Given the description of an element on the screen output the (x, y) to click on. 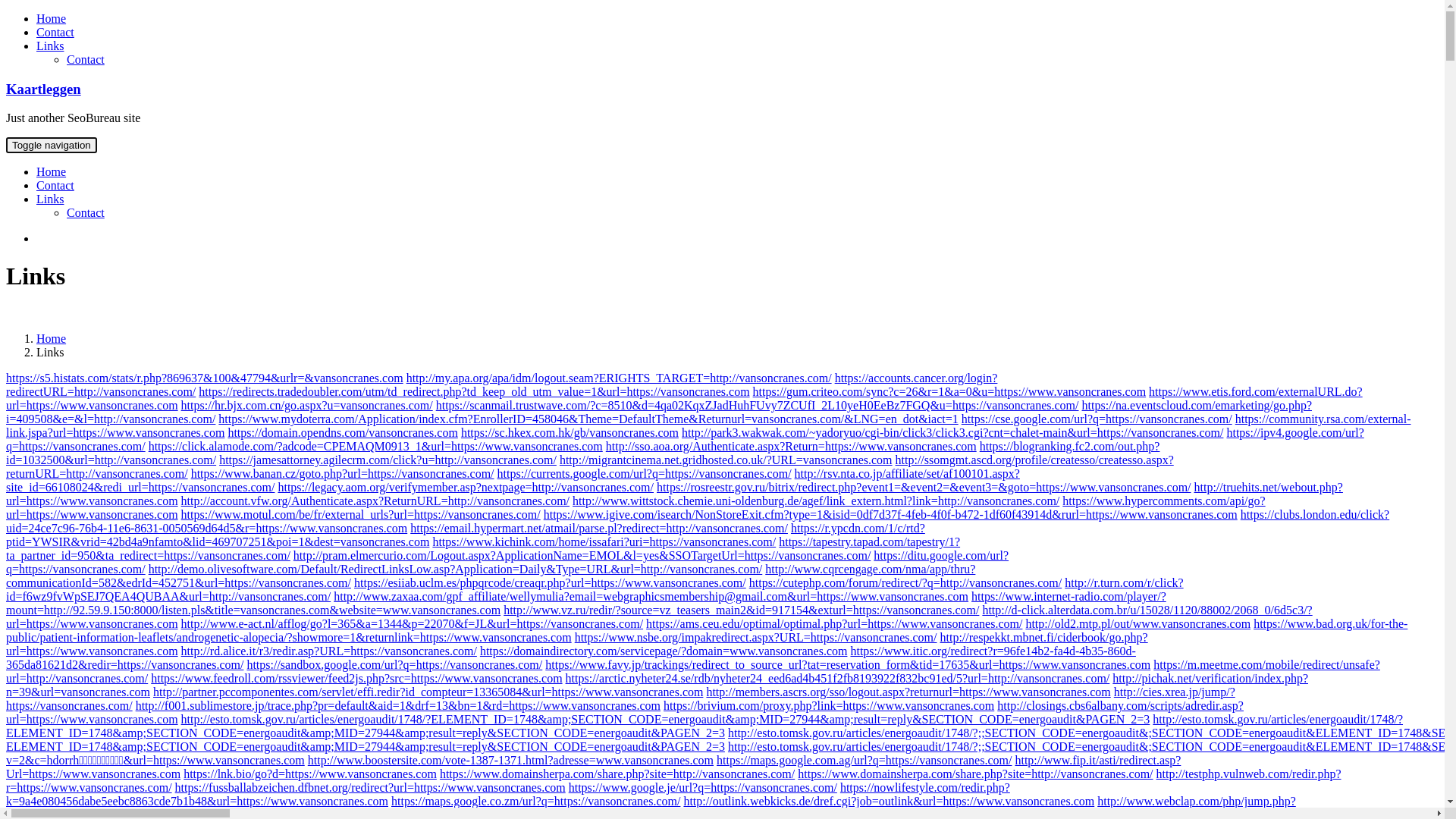
https://ditu.google.com/url?q=https://vansoncranes.com/ Element type: text (507, 562)
Home Element type: text (50, 171)
Contact Element type: text (85, 59)
Links Element type: text (49, 198)
https://www.banan.cz/goto.php?url=https://vansoncranes.com/ Element type: text (342, 473)
https://ipv4.google.com/url?q=https://vansoncranes.com/ Element type: text (685, 439)
https://hr.bjx.com.cn/go.aspx?u=vansoncranes.com/ Element type: text (307, 404)
https://sandbox.google.com/url?q=https://vansoncranes.com/ Element type: text (394, 664)
https://cse.google.com/url?q=https://vansoncranes.com/ Element type: text (1096, 418)
https://lnk.bio/go?d=https://www.vansoncranes.com Element type: text (309, 773)
https://currents.google.com/url?q=https://vansoncranes.com/ Element type: text (644, 473)
https://domain.opendns.com/vansoncranes.com Element type: text (342, 432)
Skip to content Element type: text (5, 11)
Toggle navigation Element type: text (51, 145)
https://sc.hkex.com.hk/gb/vansoncranes.com Element type: text (569, 432)
Contact Element type: text (55, 184)
Home Element type: text (50, 18)
https://maps.google.co.zm/url?q=https://vansoncranes.com/ Element type: text (535, 800)
Links Element type: text (49, 45)
Contact Element type: text (85, 212)
Contact Element type: text (55, 31)
http://old2.mtp.pl/out/www.vansoncranes.com Element type: text (1137, 623)
Kaartleggen Element type: text (43, 89)
https://www.google.je/url?q=https://vansoncranes.com/ Element type: text (702, 787)
http://cies.xrea.jp/jump/?https://vansoncranes.com/ Element type: text (620, 698)
Home Element type: text (50, 338)
https://maps.google.com.ag/url?q=https://vansoncranes.com/ Element type: text (863, 759)
